Given the description of an element on the screen output the (x, y) to click on. 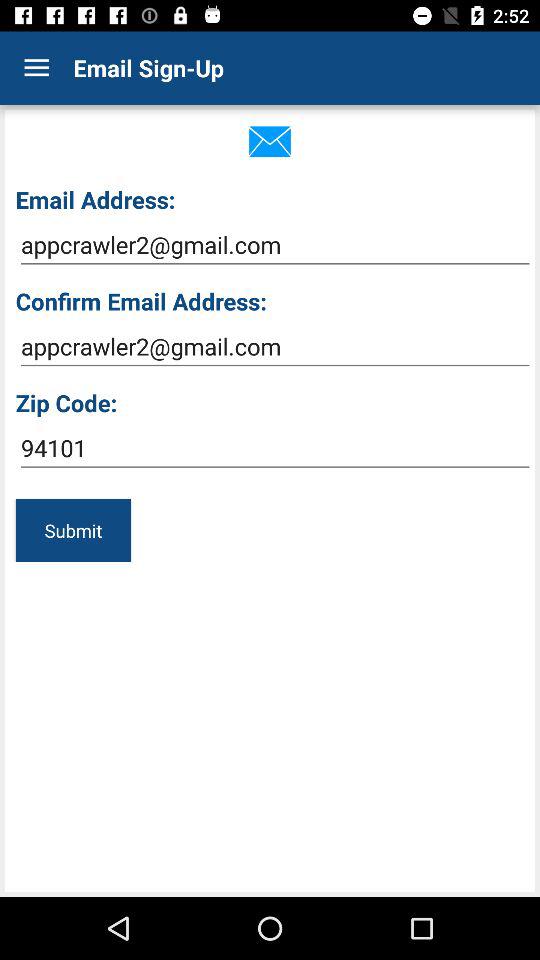
select icon below zip code: (274, 448)
